Given the description of an element on the screen output the (x, y) to click on. 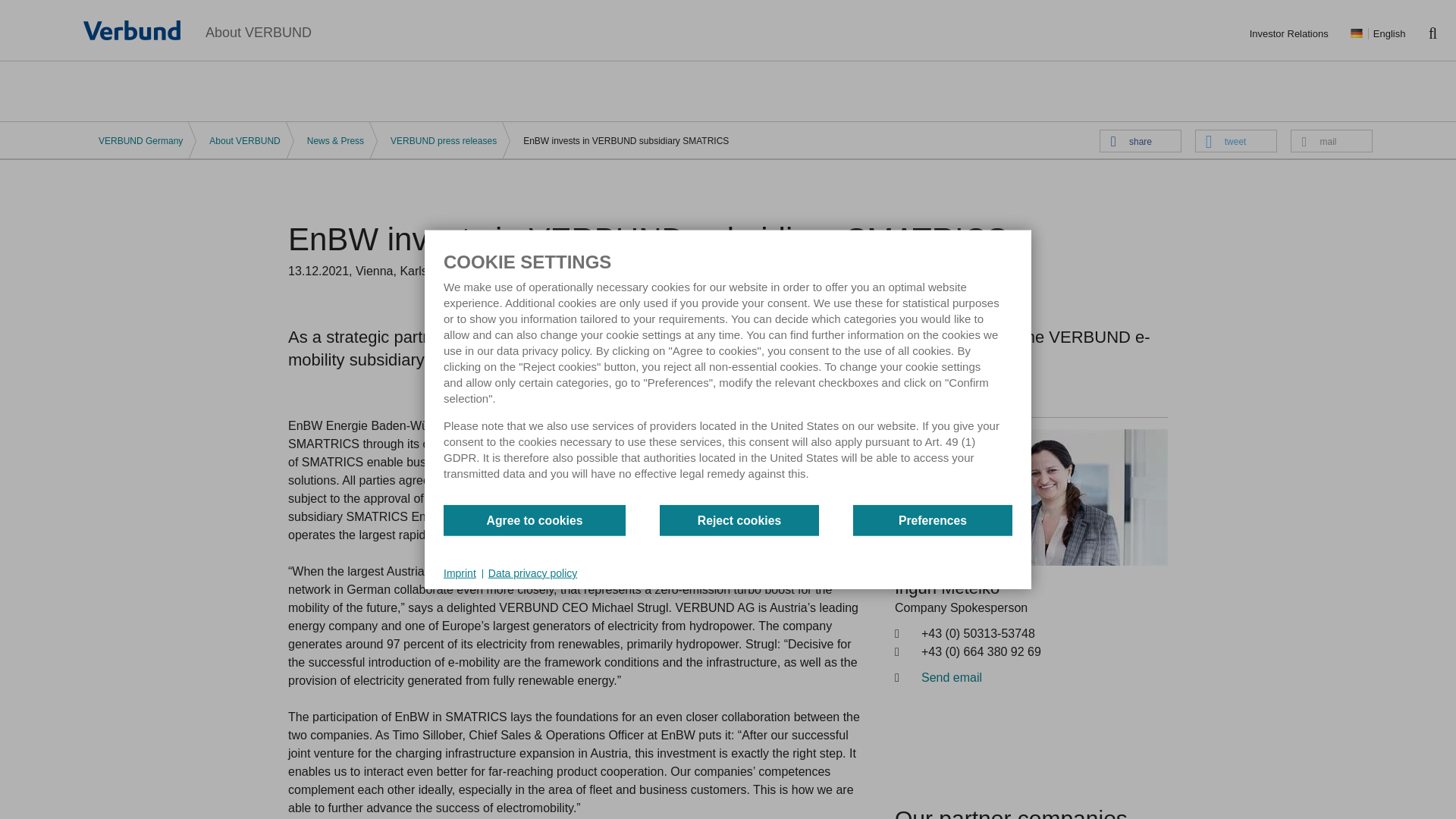
Share on Twitter (1235, 140)
Send by email (1331, 140)
Share on Facebook (1139, 140)
About VERBUND (258, 30)
